Given the description of an element on the screen output the (x, y) to click on. 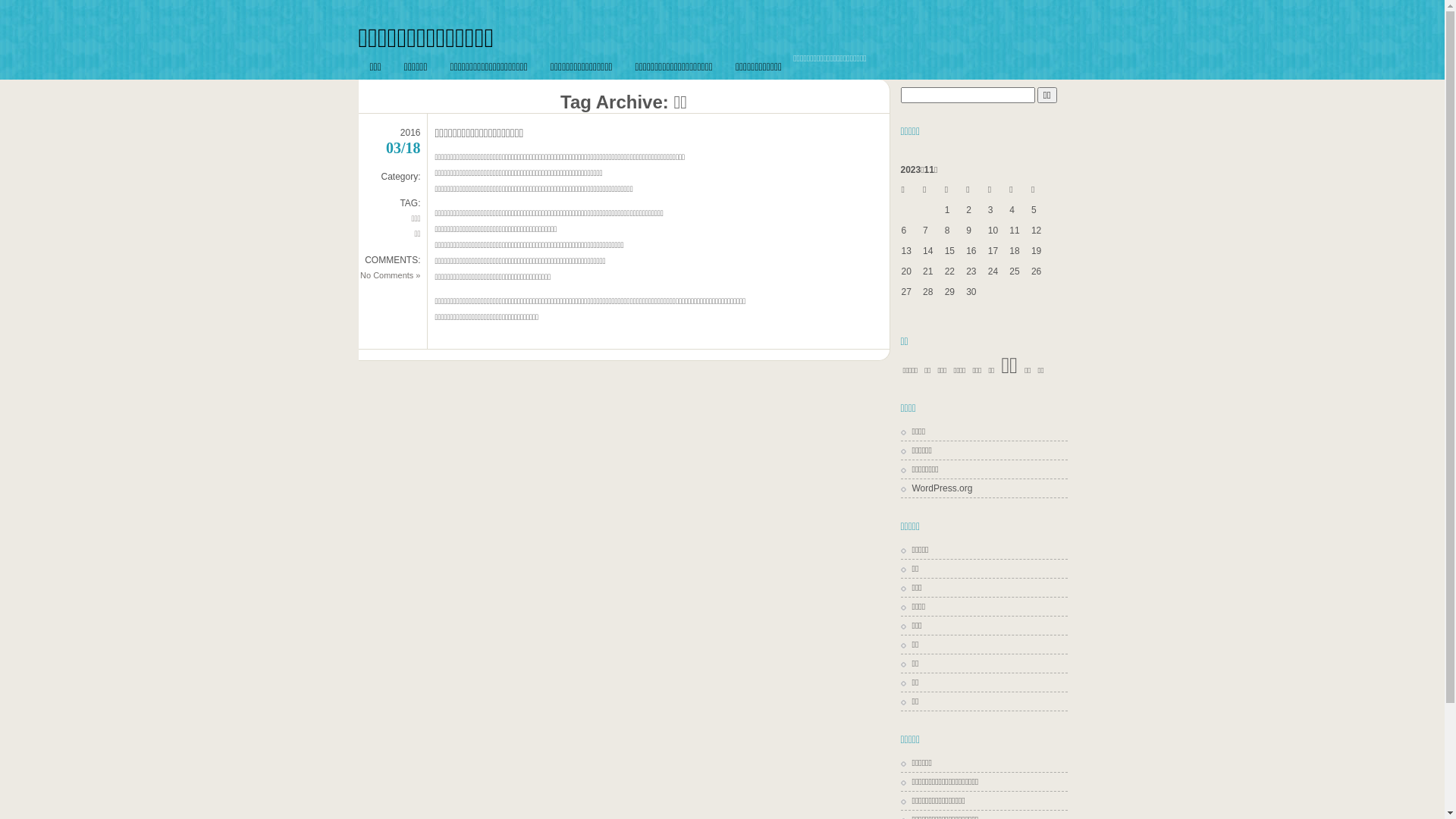
03/18 Element type: text (402, 147)
WordPress.org Element type: text (936, 488)
